Given the description of an element on the screen output the (x, y) to click on. 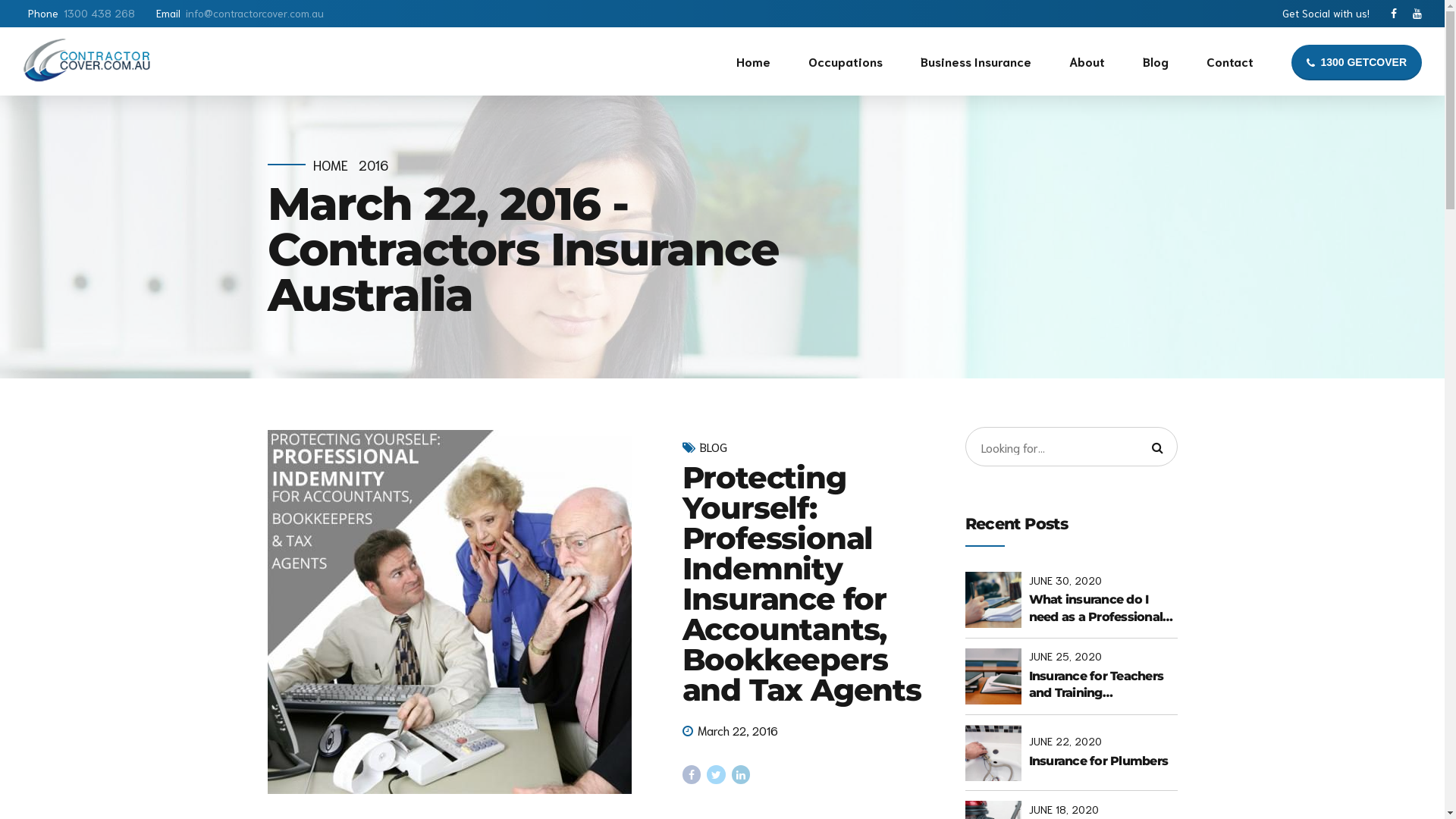
Occupations Element type: text (845, 61)
Blog Element type: text (1155, 61)
Home Element type: text (753, 61)
Insurance for Teachers and Training Consultants Element type: text (1102, 685)
What insurance do I need as a Professional Writer? Element type: text (1102, 608)
Share on Facebook Element type: hover (691, 774)
Business Insurance Element type: text (975, 61)
About Element type: text (1086, 61)
BLOG Element type: text (713, 446)
Share on Linkedin Element type: hover (740, 774)
Share on Twitter Element type: hover (715, 774)
Contact Element type: text (1229, 61)
1300 GETCOVER Element type: text (1356, 62)
Insurance for Plumbers Element type: text (1102, 760)
HOME Element type: text (329, 164)
